Given the description of an element on the screen output the (x, y) to click on. 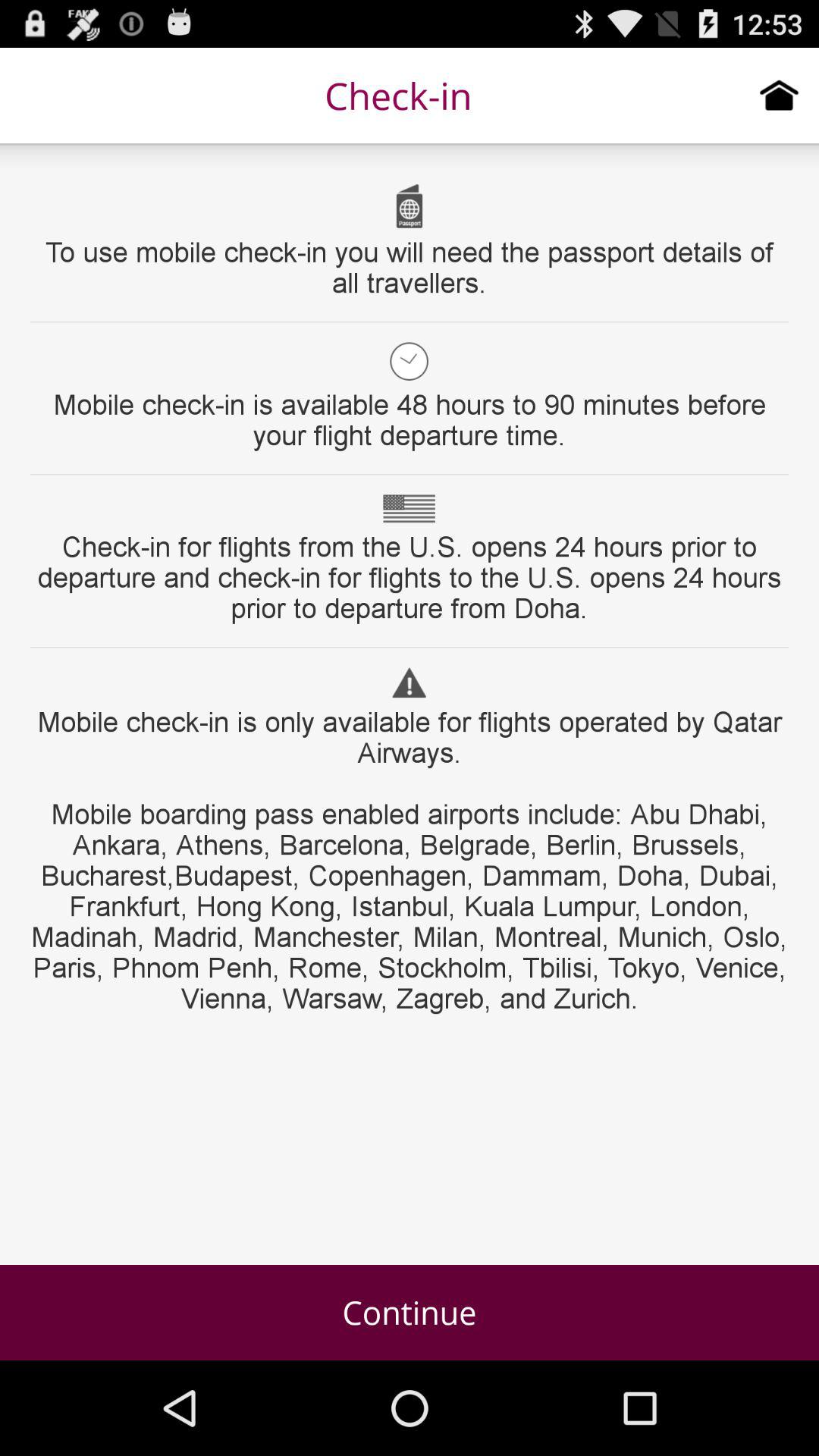
flip to the continue icon (409, 1312)
